Given the description of an element on the screen output the (x, y) to click on. 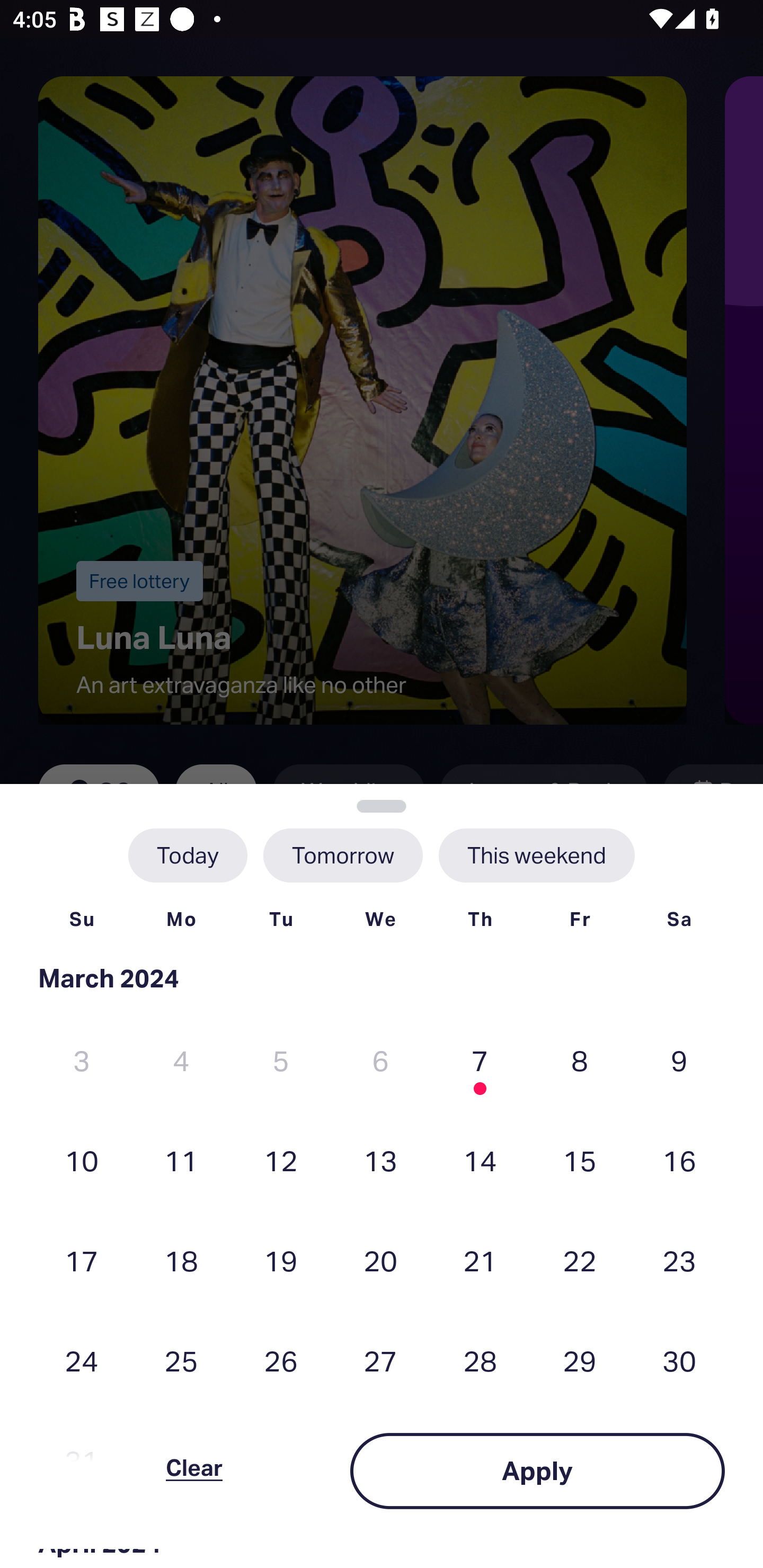
Today (187, 854)
Tomorrow (342, 854)
This weekend (536, 854)
3 (81, 1060)
4 (181, 1060)
5 (280, 1060)
6 (380, 1060)
7 (479, 1060)
8 (579, 1060)
9 (678, 1060)
10 (81, 1160)
11 (181, 1160)
12 (280, 1160)
13 (380, 1160)
14 (479, 1160)
15 (579, 1160)
16 (678, 1160)
17 (81, 1260)
18 (181, 1260)
19 (280, 1260)
20 (380, 1260)
21 (479, 1260)
22 (579, 1260)
23 (678, 1260)
24 (81, 1360)
25 (181, 1360)
26 (280, 1360)
27 (380, 1360)
28 (479, 1360)
29 (579, 1360)
30 (678, 1360)
Clear (194, 1470)
Apply (537, 1470)
